Given the description of an element on the screen output the (x, y) to click on. 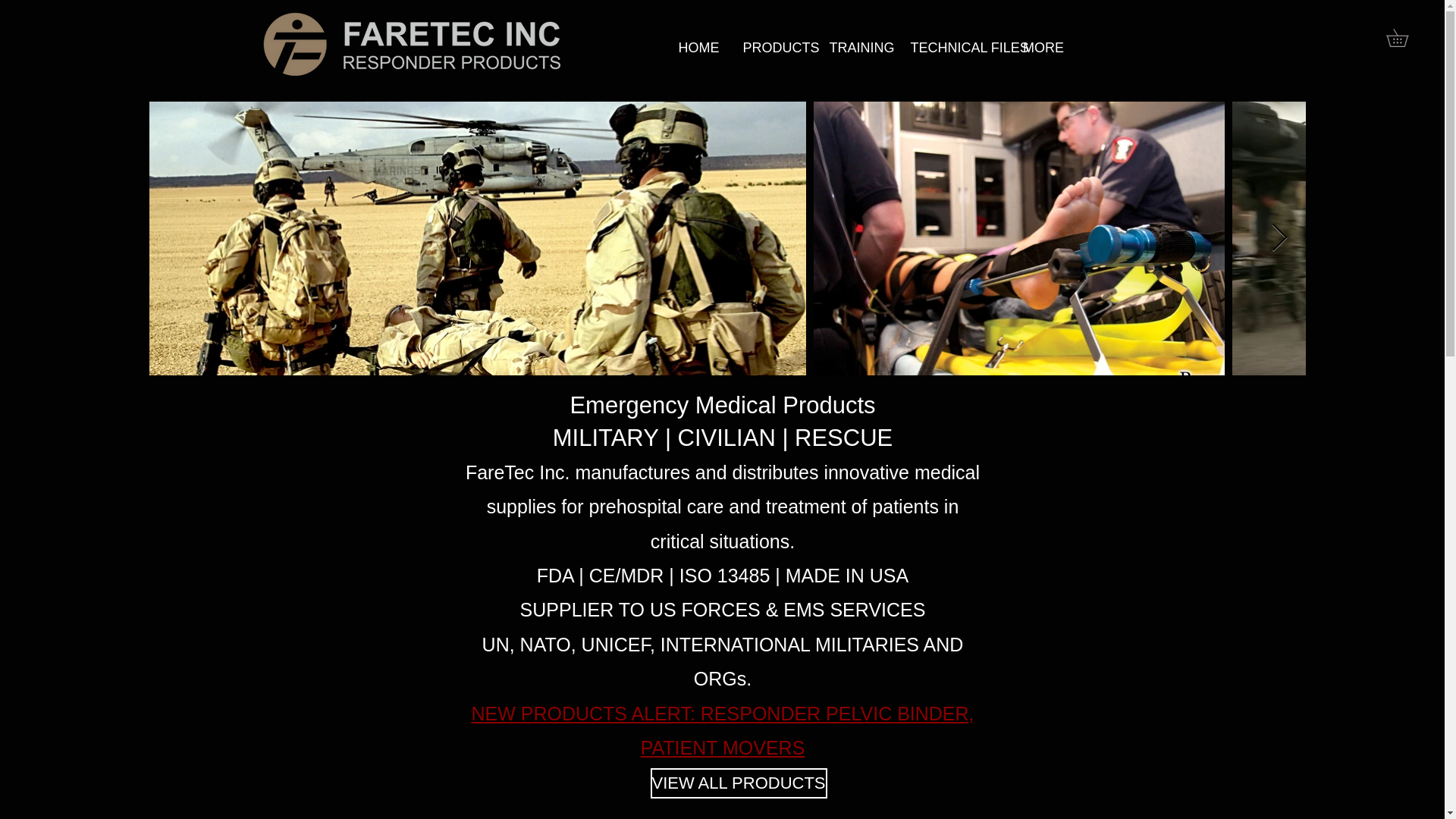
NEW PRODUCTS ALERT: RESPONDER PELVIC BINDER, PATIENT MOVERS (722, 730)
HOME (697, 47)
VIEW ALL PRODUCTS (738, 783)
TECHNICAL FILES (955, 47)
TRAINING (857, 47)
PRODUCTS (773, 47)
